Given the description of an element on the screen output the (x, y) to click on. 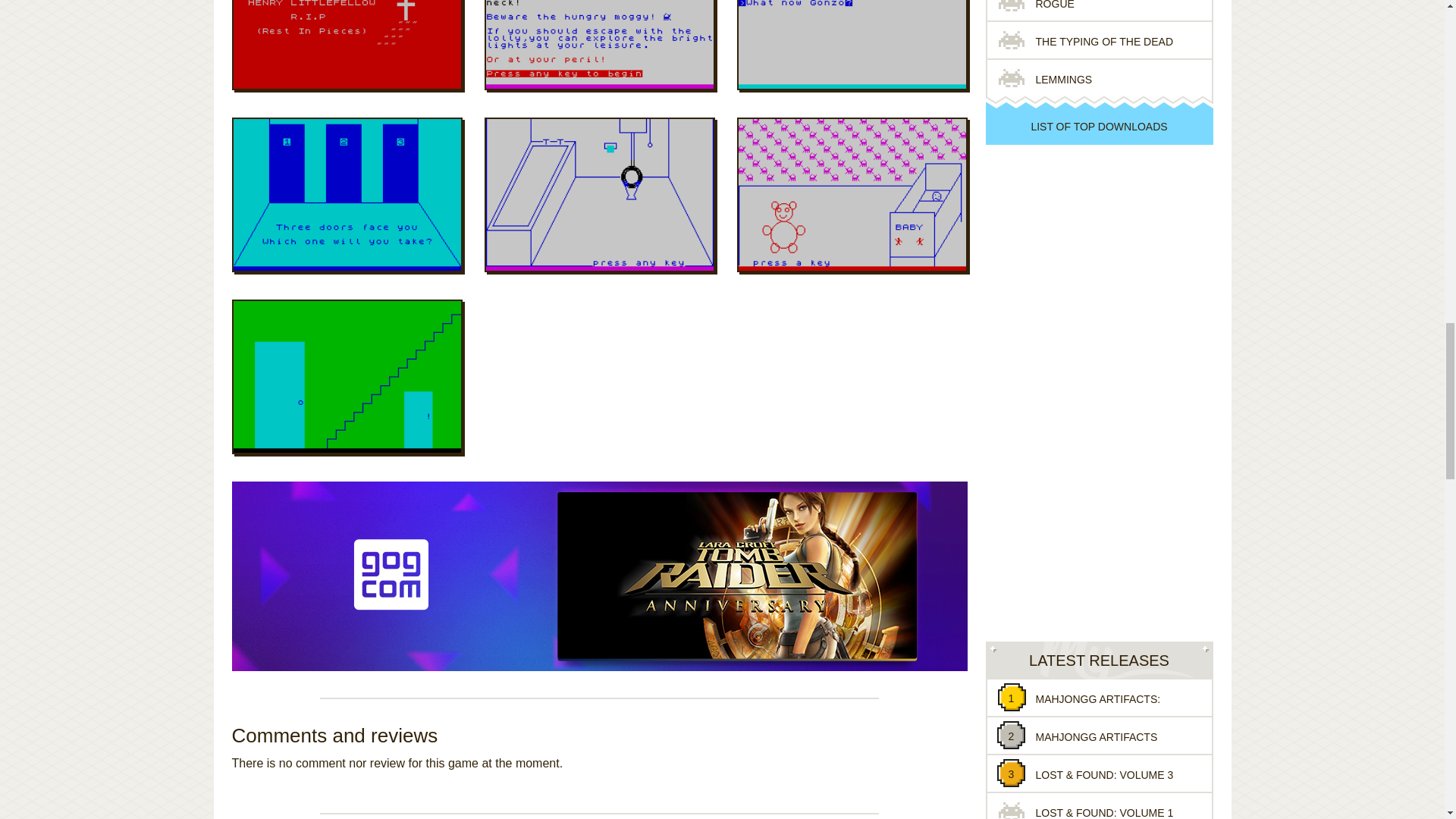
See the Top 40 Games (1098, 126)
